Given the description of an element on the screen output the (x, y) to click on. 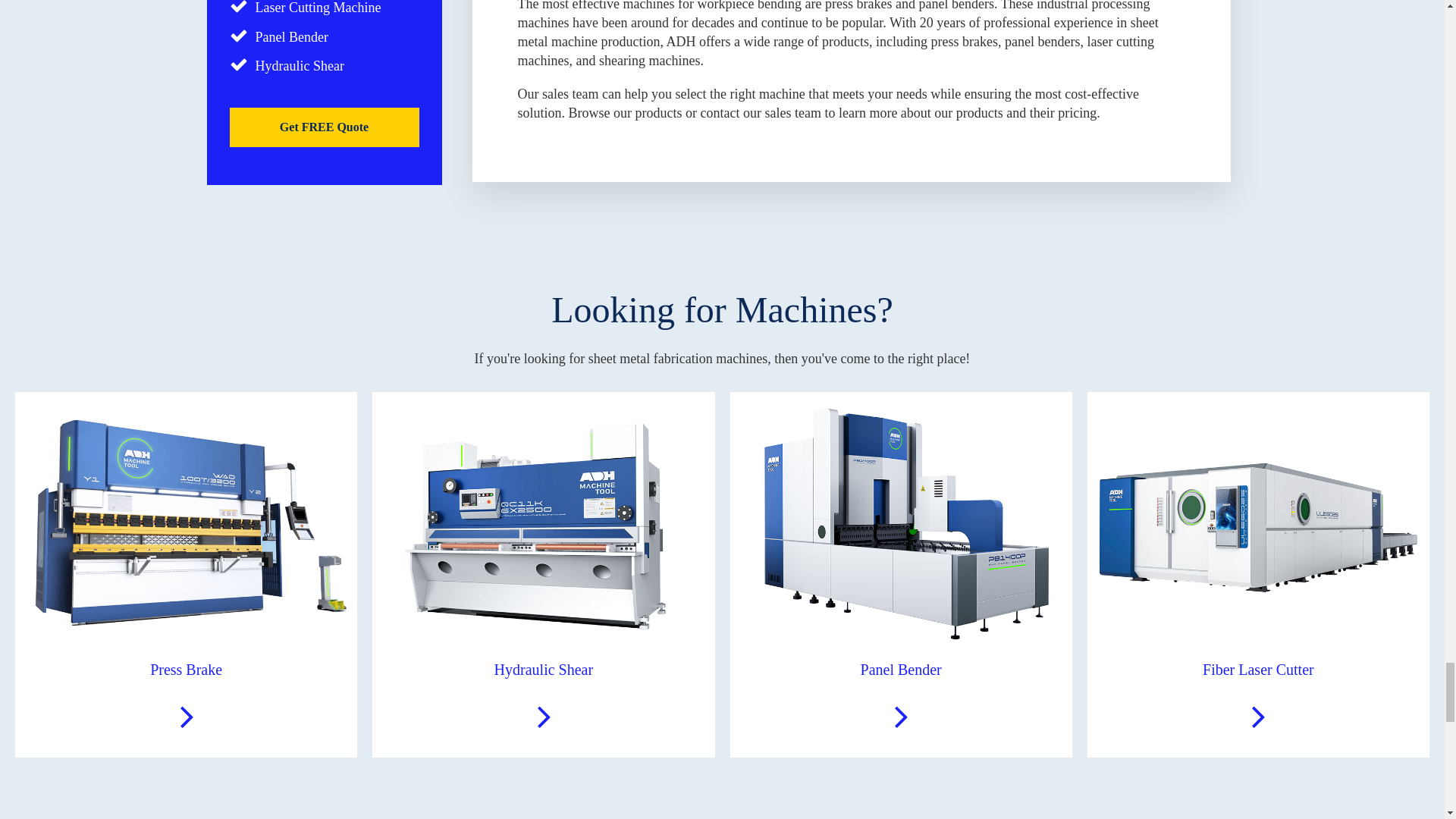
Press Brake (185, 574)
Panel Bender (900, 574)
Hydraulic Shear (543, 574)
